Given the description of an element on the screen output the (x, y) to click on. 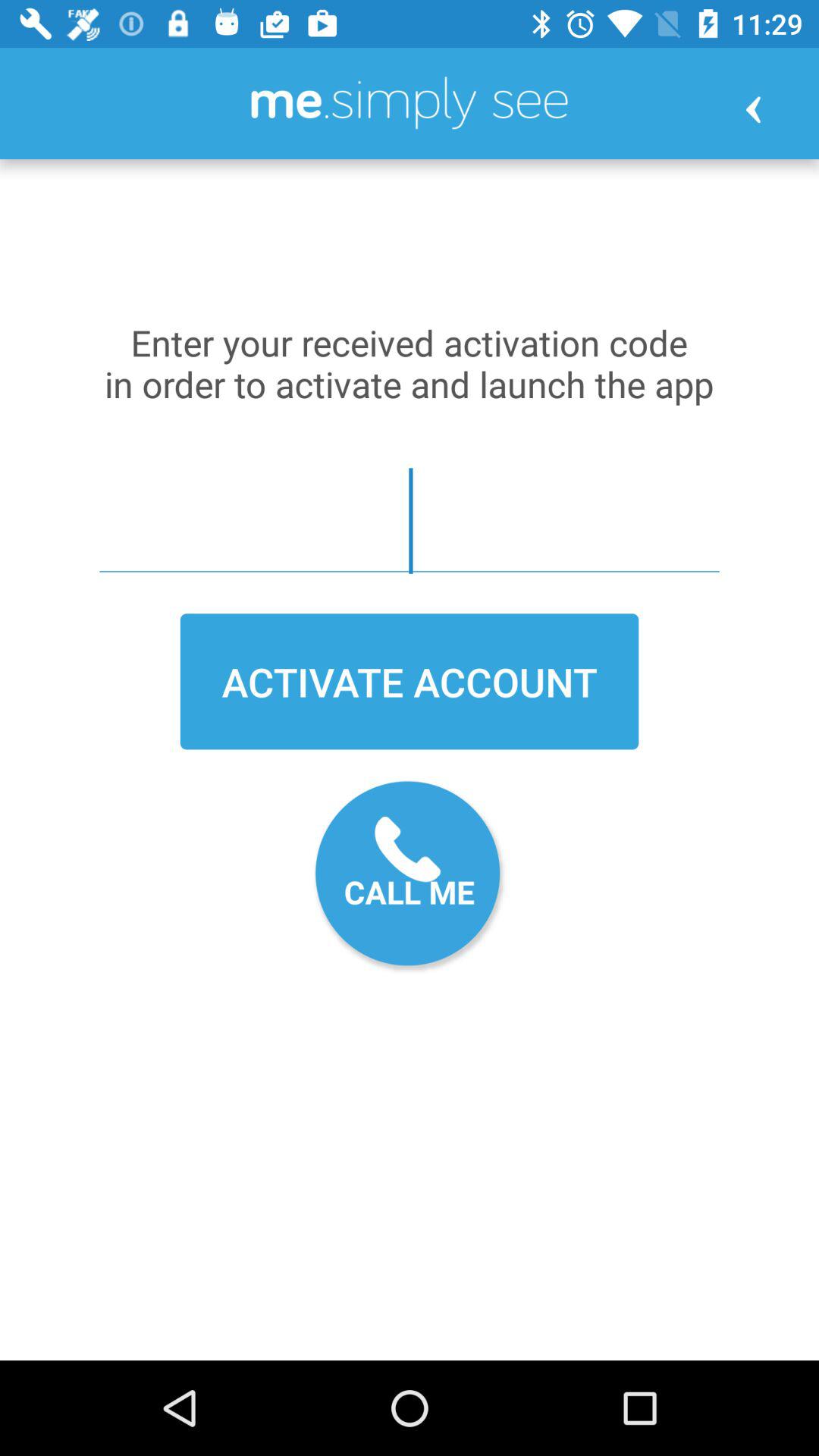
to receive a call for activation code (409, 876)
